Given the description of an element on the screen output the (x, y) to click on. 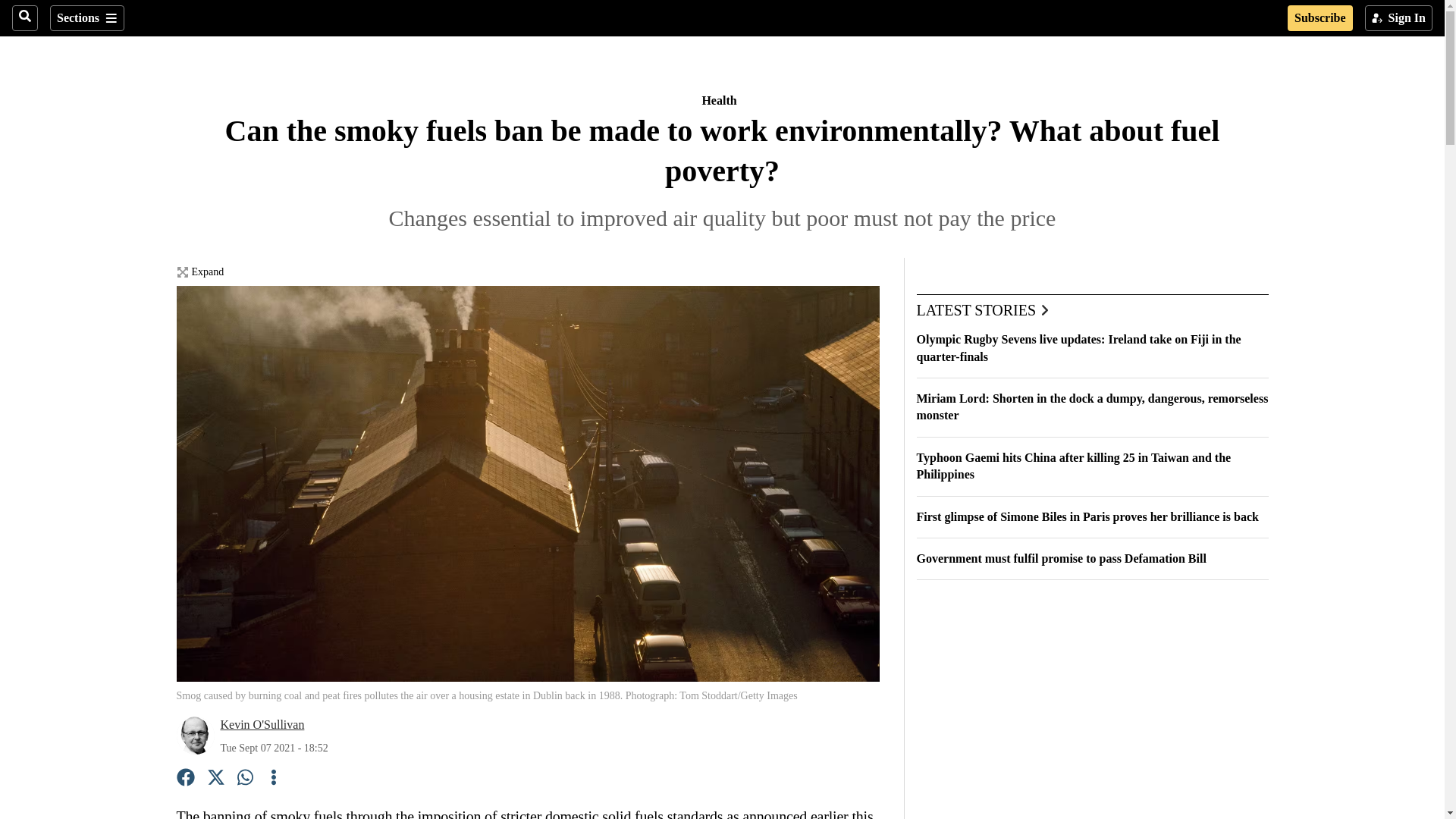
Sections (86, 17)
Subscribe (1319, 17)
Facebook (184, 779)
X (215, 779)
Sign In (1398, 17)
WhatsApp (244, 779)
